Given the description of an element on the screen output the (x, y) to click on. 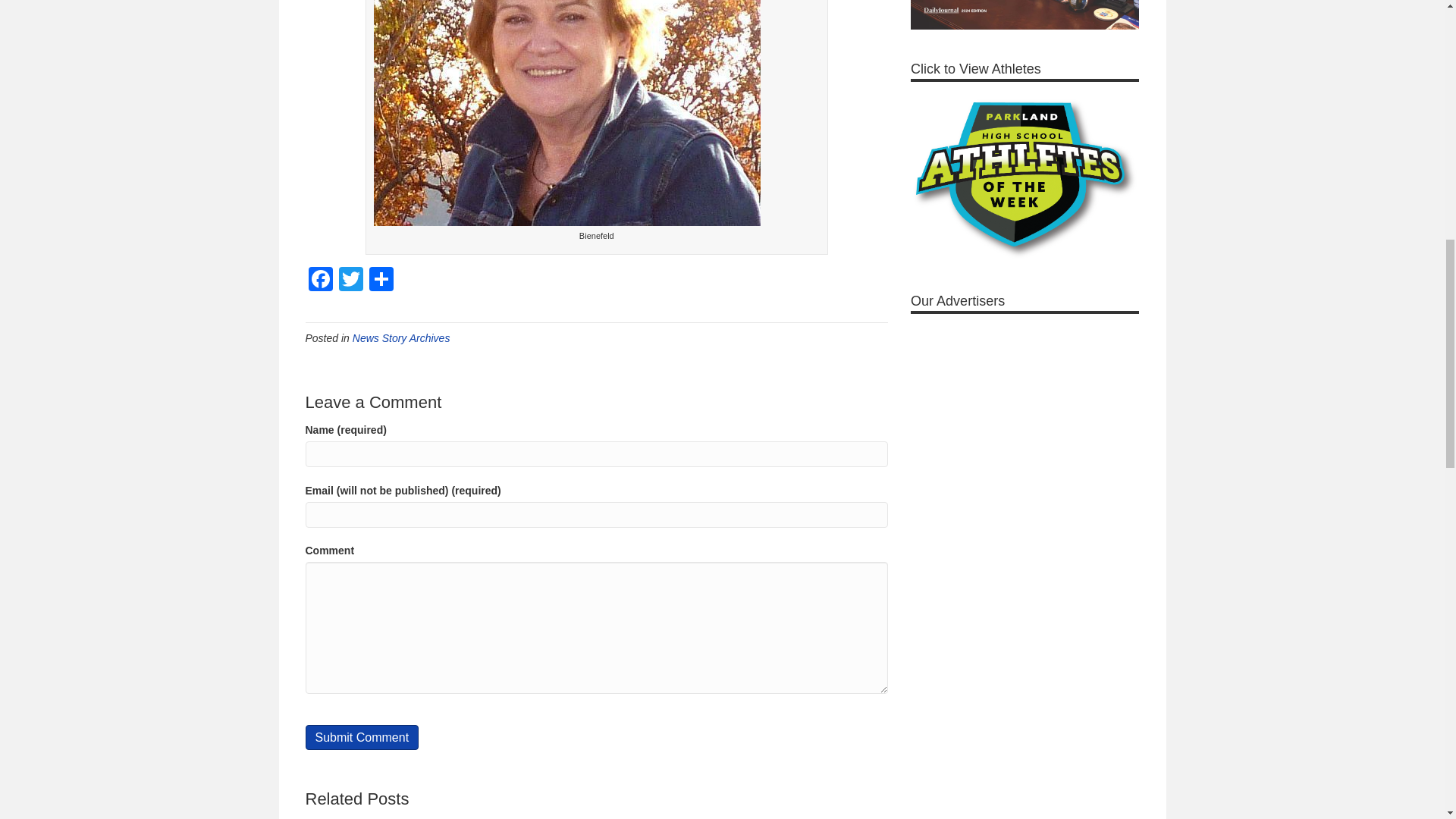
Facebook (319, 280)
Twitter (349, 280)
Submit Comment (361, 737)
